Given the description of an element on the screen output the (x, y) to click on. 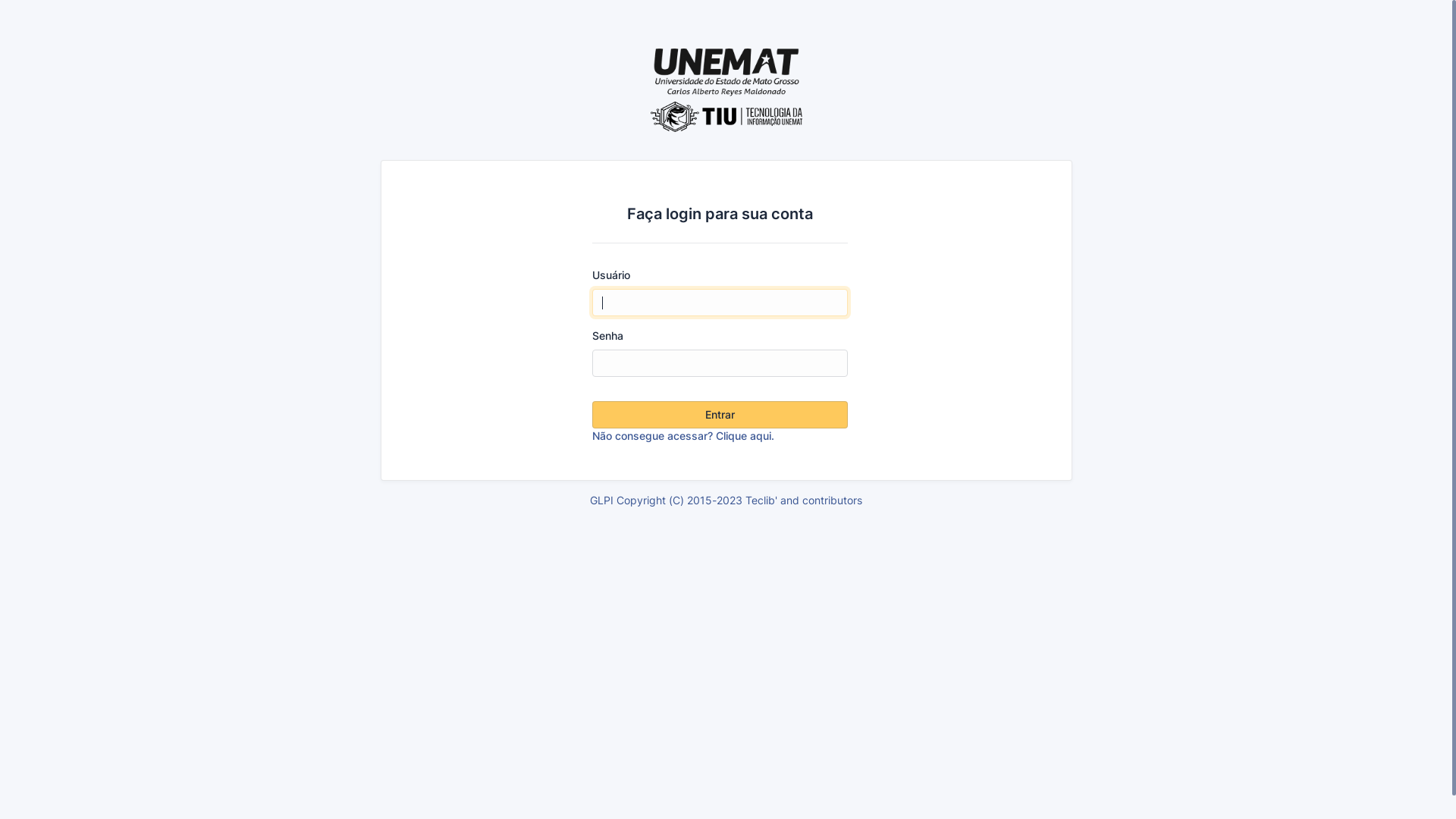
Entrar Element type: text (719, 414)
GLPI Copyright (C) 2015-2023 Teclib' and contributors Element type: text (725, 499)
GLPI Element type: hover (726, 89)
